Given the description of an element on the screen output the (x, y) to click on. 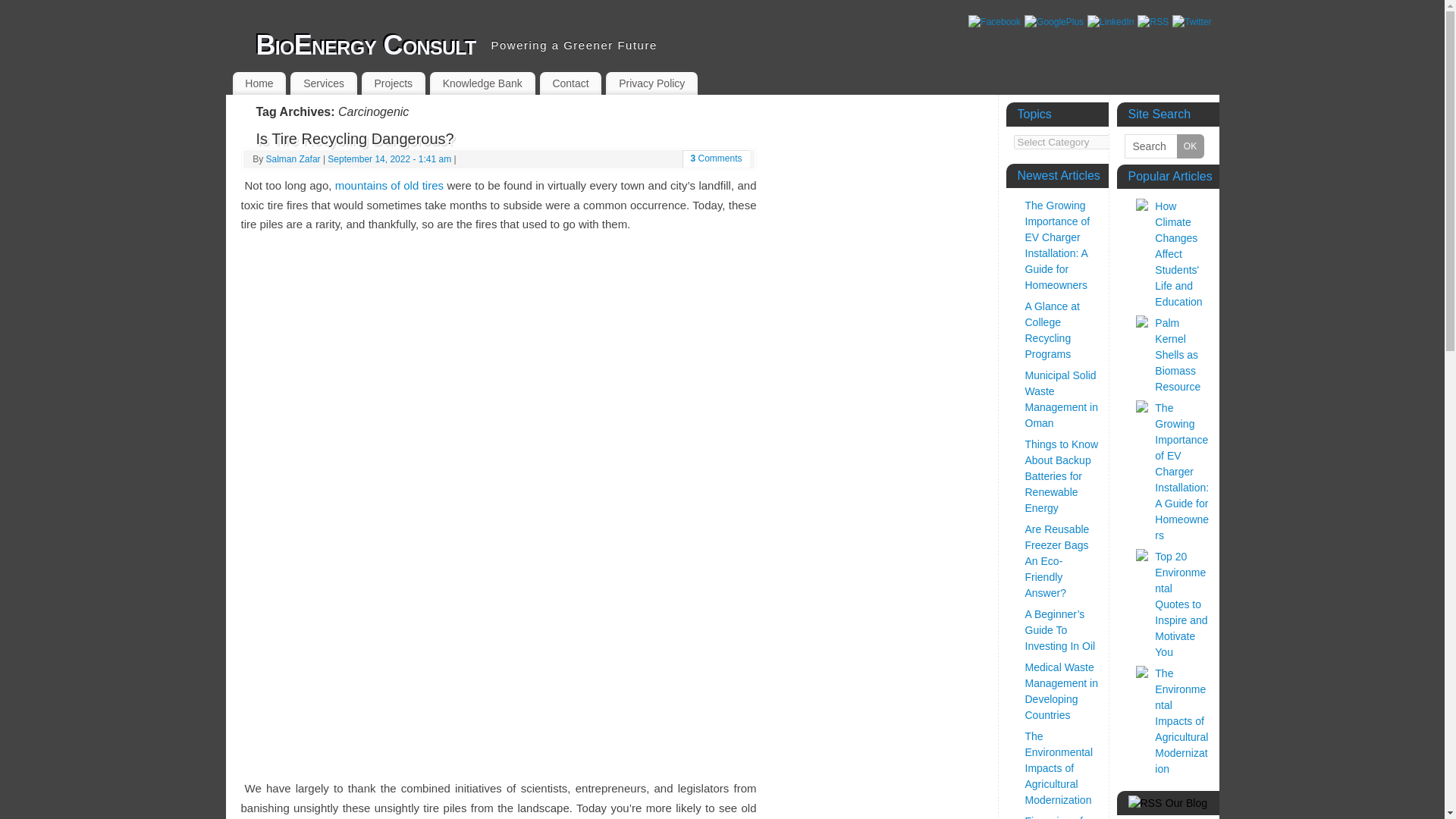
Services (322, 83)
GooglePlus (1054, 21)
Permalink to Is Tire Recycling Dangerous? (355, 138)
Contact (571, 83)
RSS (1153, 21)
LinkedIn (1110, 21)
Privacy Policy (651, 83)
OK (1190, 146)
Facebook (994, 21)
Projects (393, 83)
Search (1164, 146)
View all posts by Salman Zafar (293, 158)
Twitter (1191, 21)
Salman Zafar (293, 158)
3 Comments (715, 158)
